Given the description of an element on the screen output the (x, y) to click on. 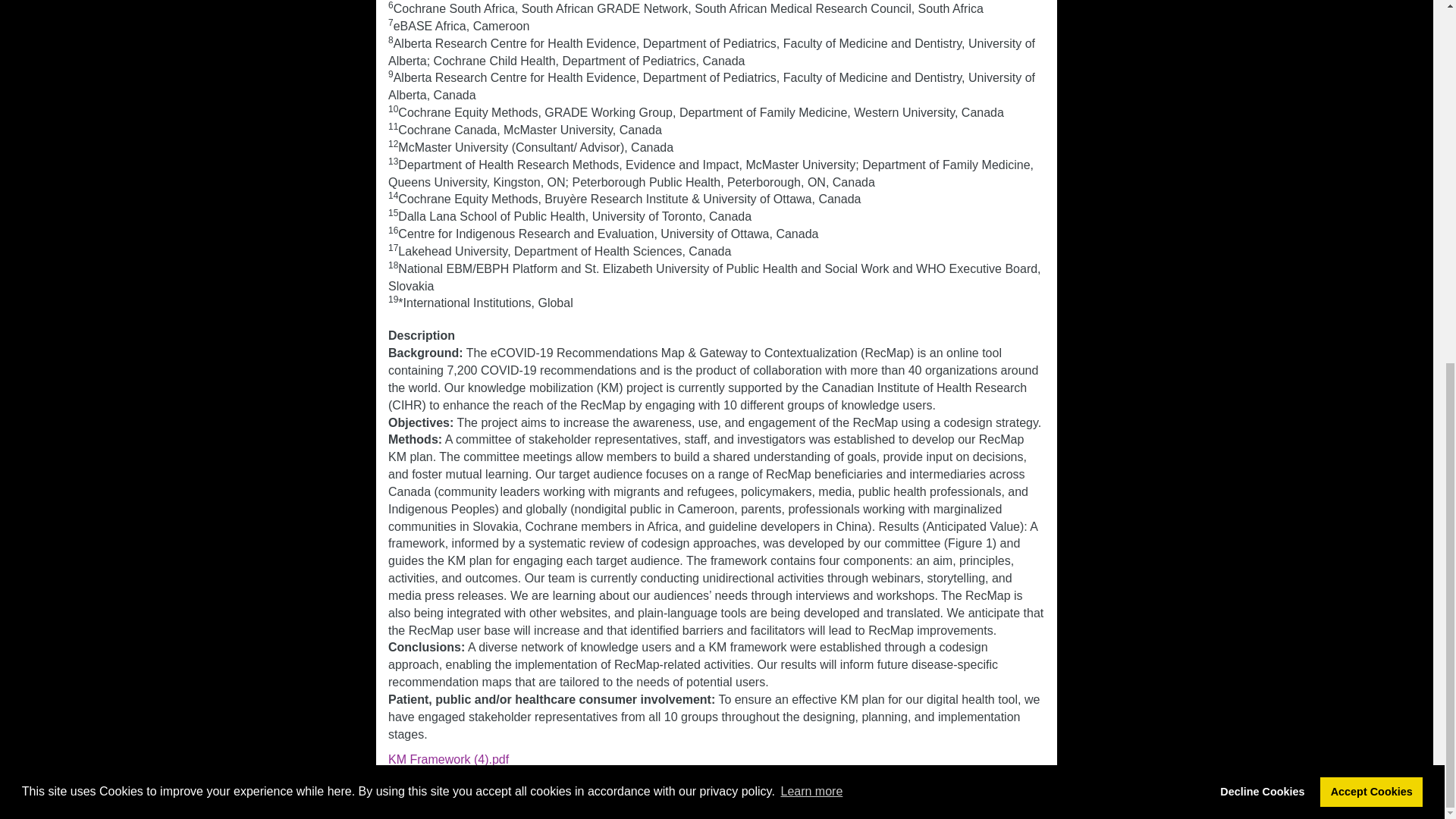
Decline Cookies (1261, 142)
Accept Cookies (1371, 142)
Learn more (810, 142)
Opens in new window (448, 759)
